Given the description of an element on the screen output the (x, y) to click on. 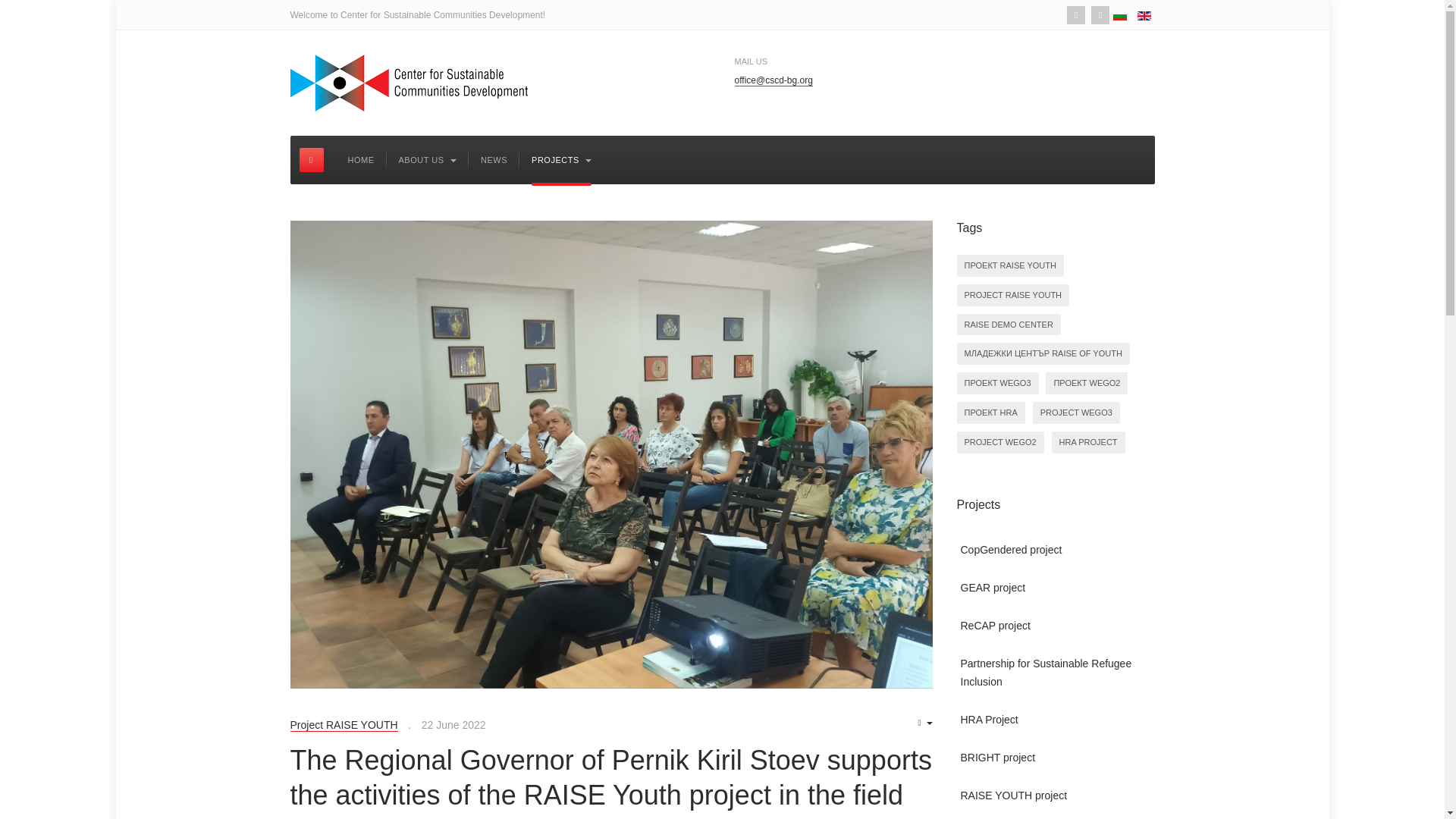
Center for Sustainable Communities Development (408, 82)
Youtube (1099, 14)
PROJECTS (561, 159)
ABOUT US (427, 159)
Facebook (1075, 14)
